Given the description of an element on the screen output the (x, y) to click on. 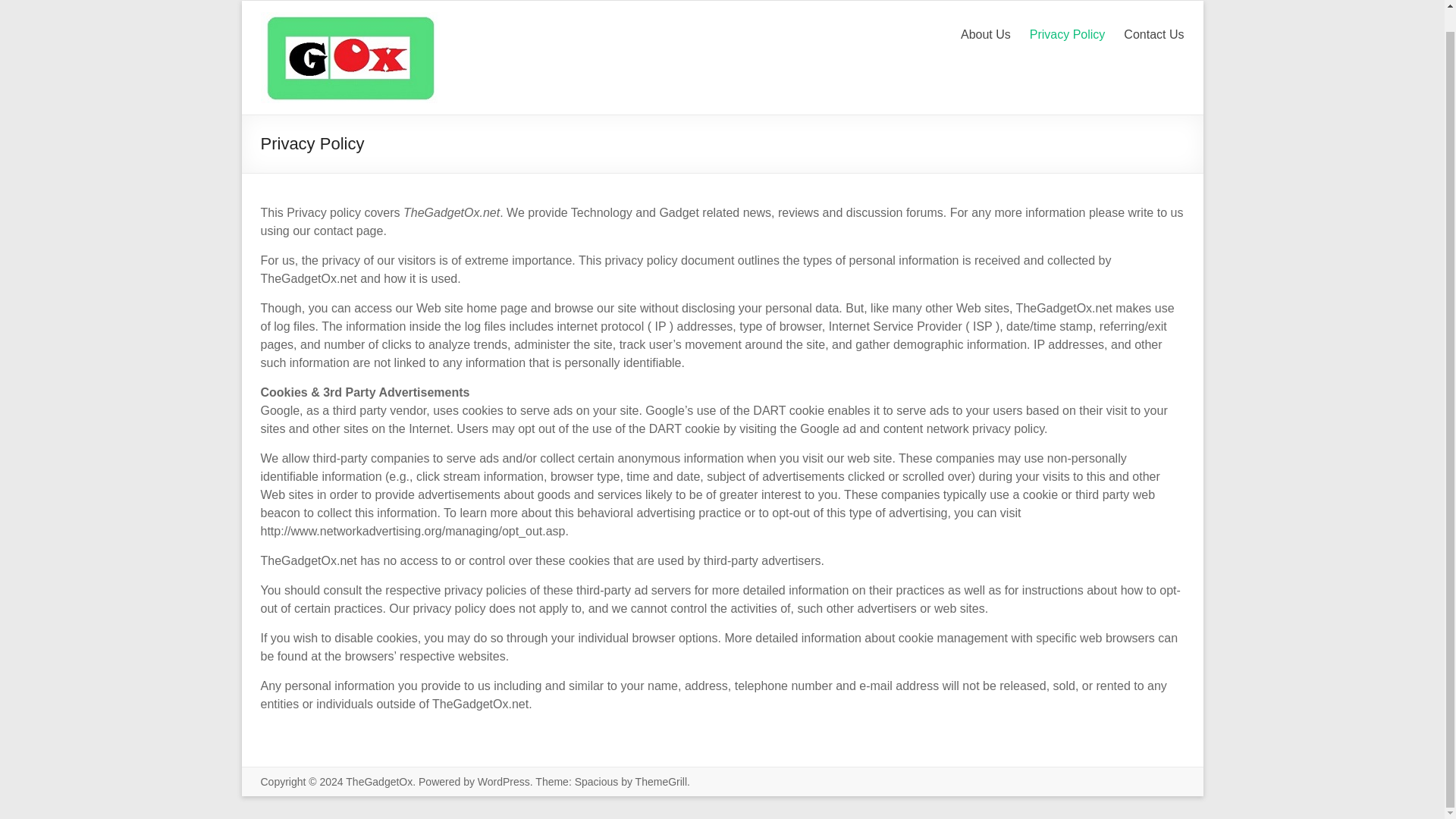
About Us (985, 38)
Contact Us (1153, 38)
Privacy Policy (1067, 38)
